Given the description of an element on the screen output the (x, y) to click on. 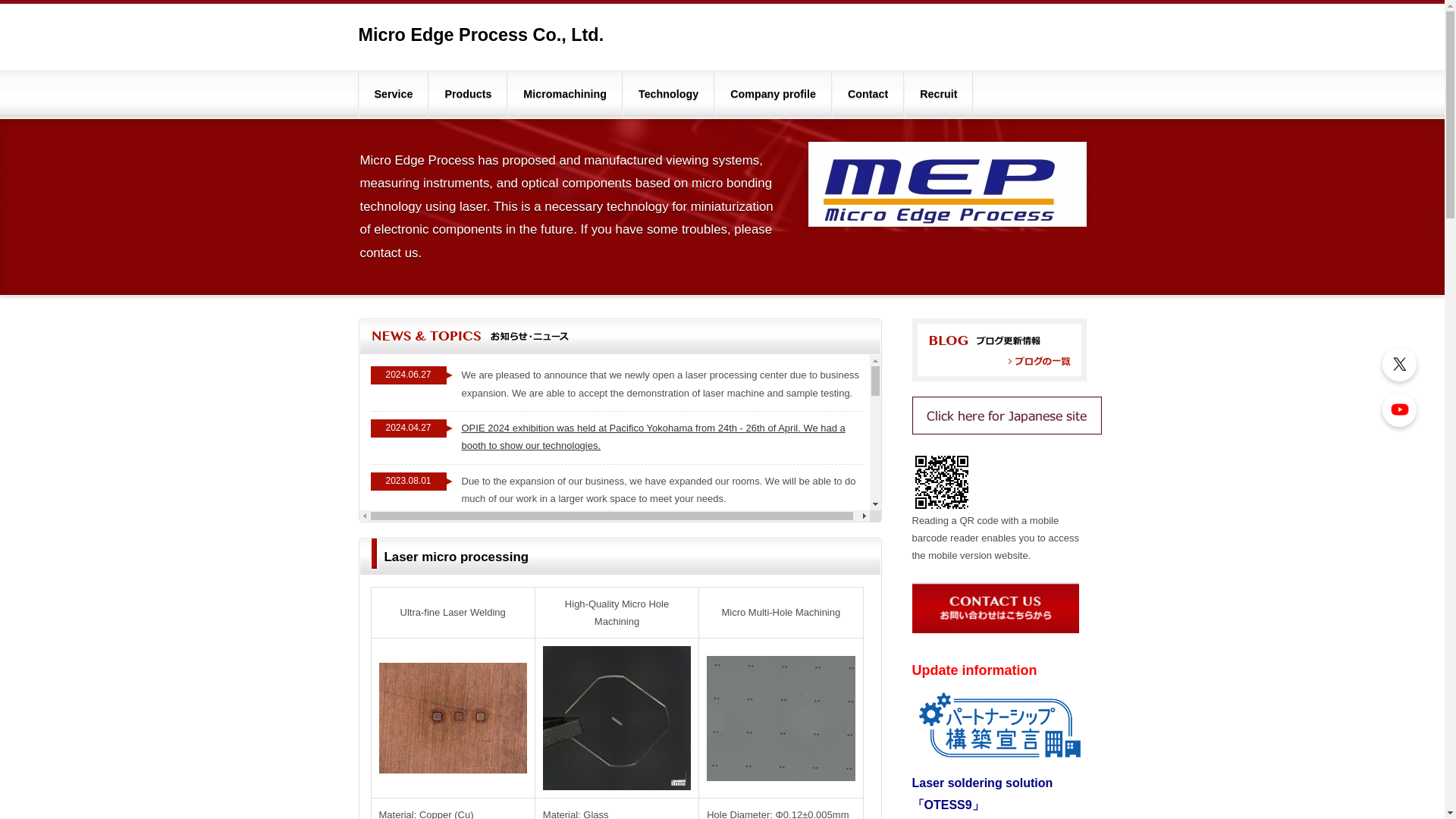
Company profile (772, 93)
Service (393, 93)
Contact (867, 93)
Micro Edge Process Co., Ltd. (481, 35)
Products (467, 93)
Recruit (938, 93)
Micromachining (564, 93)
